Given the description of an element on the screen output the (x, y) to click on. 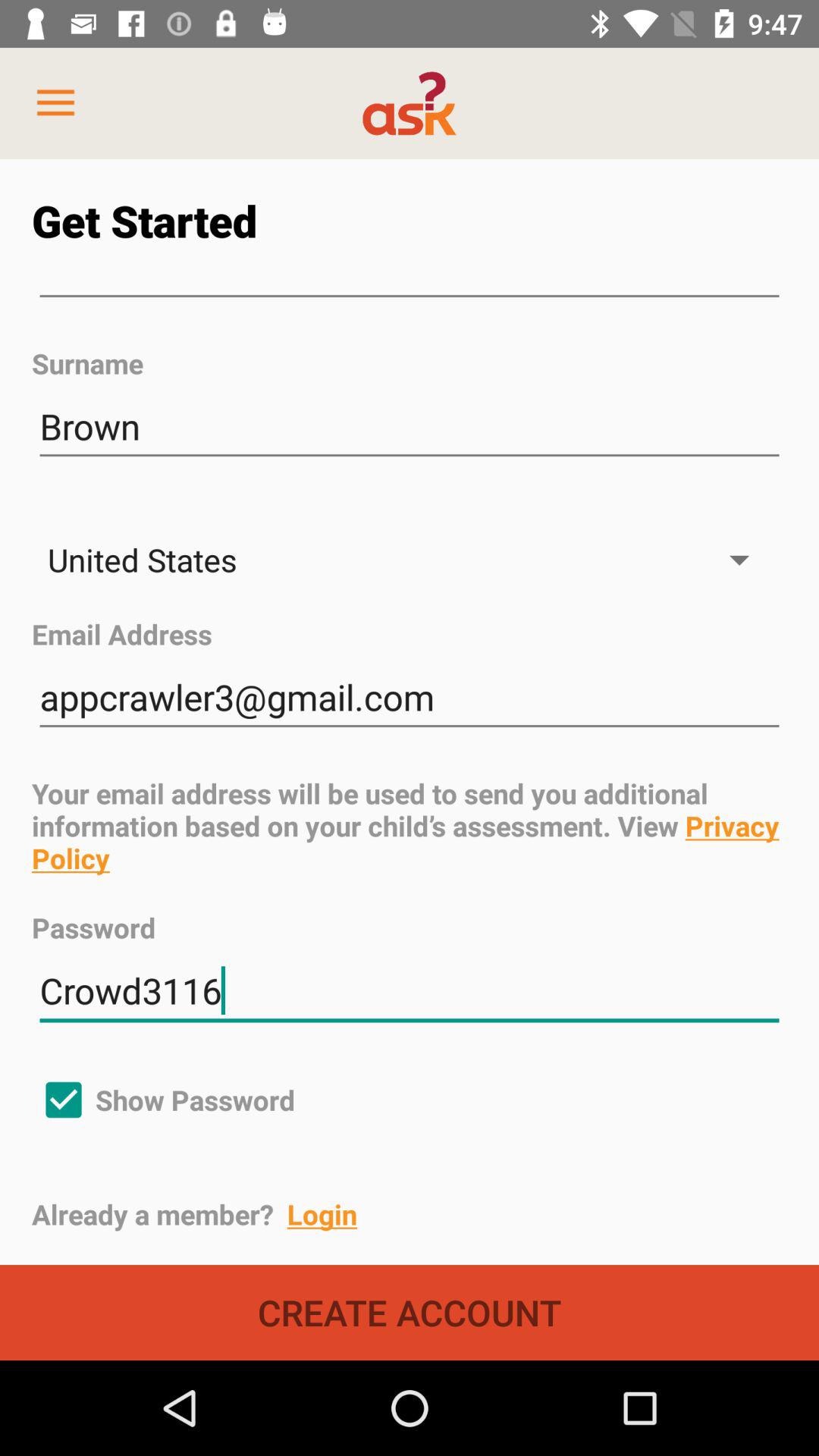
tap show password (163, 1099)
